Given the description of an element on the screen output the (x, y) to click on. 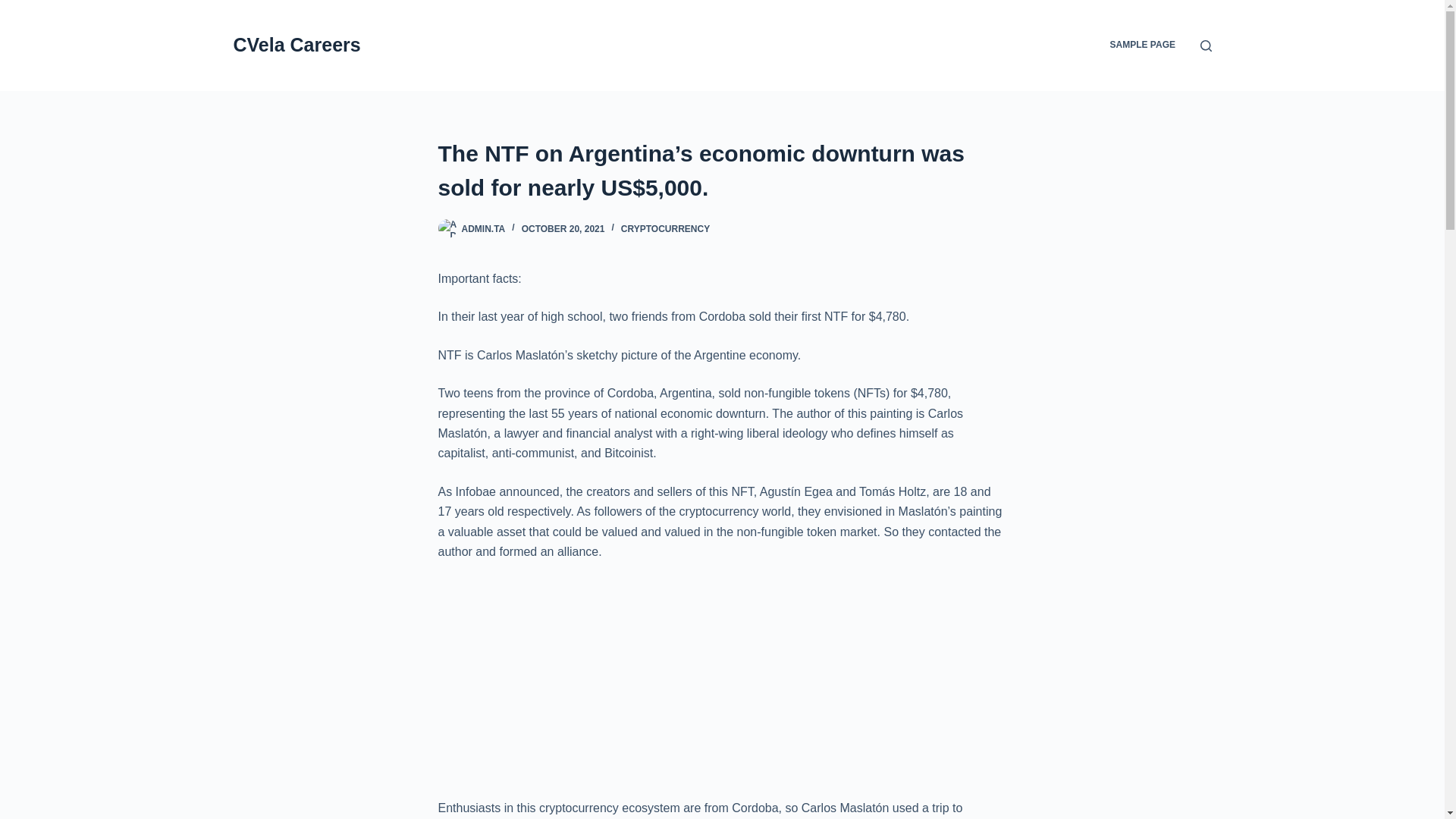
Posts by admin.ta (483, 228)
Skip to content (15, 7)
Advertisement (722, 685)
SAMPLE PAGE (1142, 45)
CVela Careers (296, 44)
CRYPTOCURRENCY (665, 228)
ADMIN.TA (483, 228)
